Given the description of an element on the screen output the (x, y) to click on. 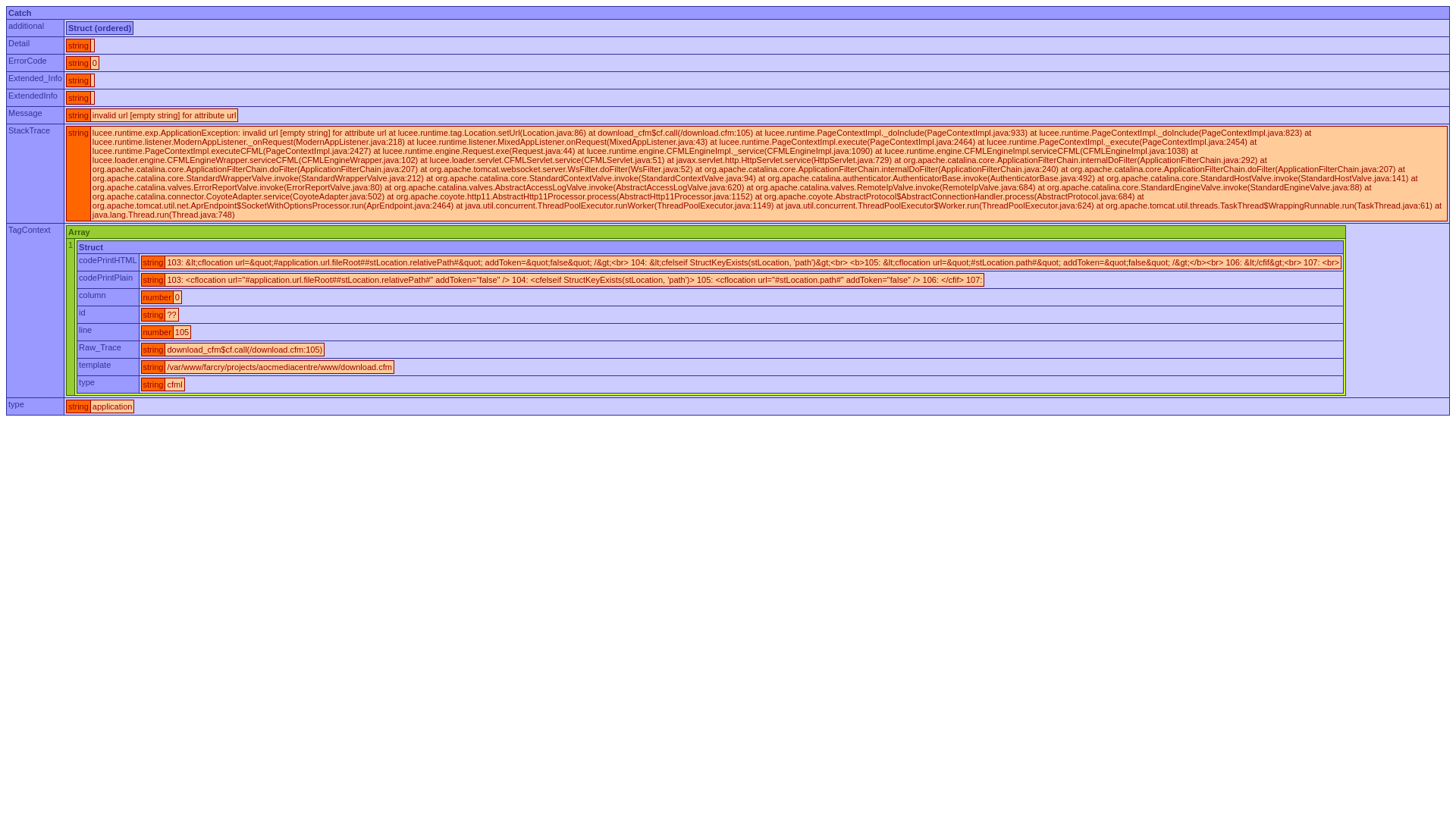
Struct Element type: text (710, 247)
Array Element type: text (705, 231)
Struct (ordered) Element type: text (98, 27)
Catch Element type: text (727, 12)
